Given the description of an element on the screen output the (x, y) to click on. 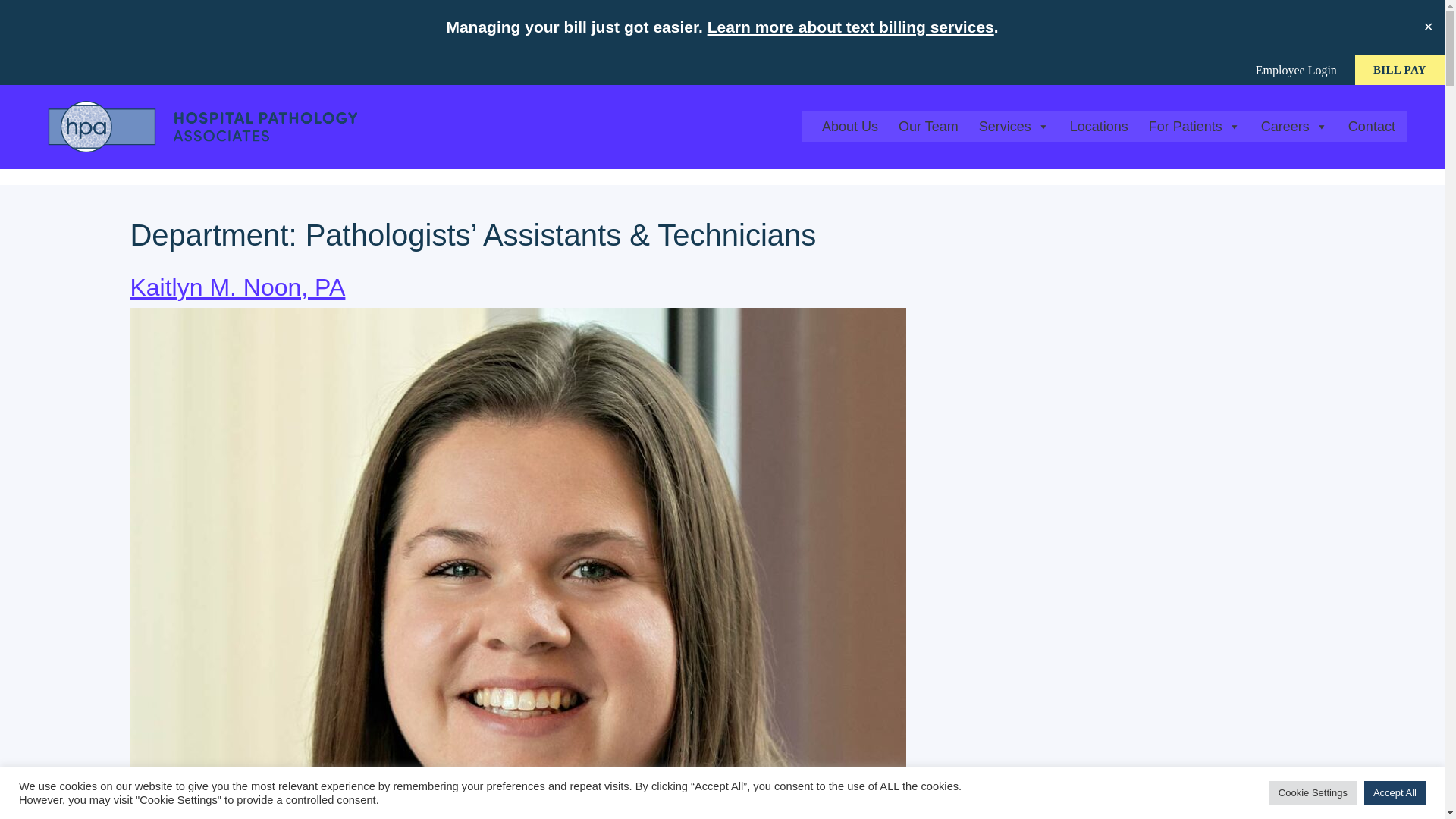
Employee Login (1296, 68)
Locations (1100, 126)
BILL PAY (1399, 68)
Bill Pay (1399, 68)
For Patients (1196, 126)
Careers (1295, 126)
Learn more about text billing services (850, 27)
About Us (850, 126)
Employee Login (1296, 68)
Services (1015, 126)
Our Team (929, 126)
